Given the description of an element on the screen output the (x, y) to click on. 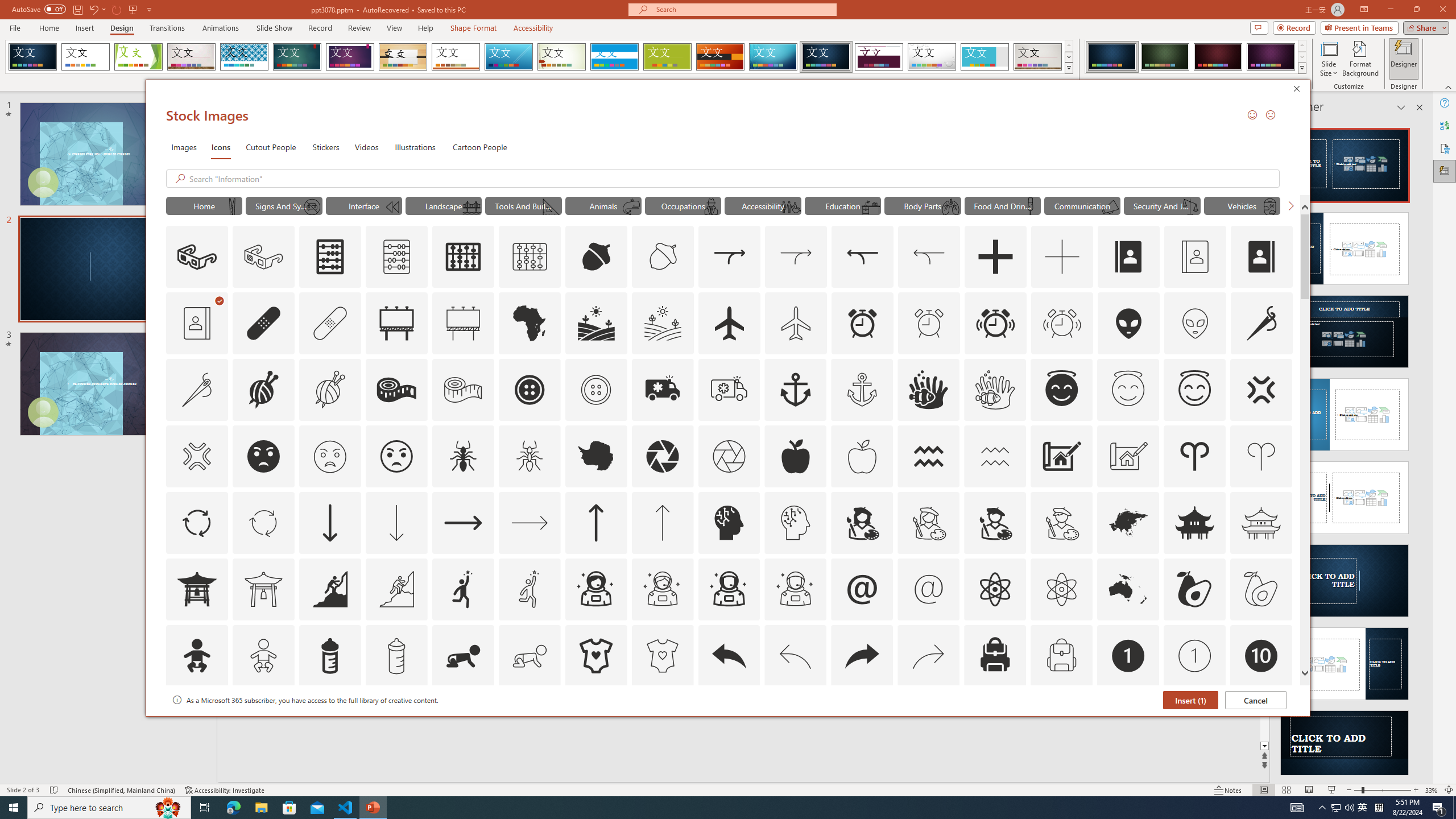
AutomationID: Icons_AsianTemple (1194, 522)
AutomationID: Icons_Aquarius (928, 455)
AutomationID: Icons_Aspiration_M (395, 588)
AutomationID: Icons_WeightsUneven1_M (1190, 206)
"Accessibility" Icons. (762, 205)
AutomationID: Icons_Badge7_M (995, 721)
AutomationID: Icons_ArtificialIntelligence_M (795, 522)
Zoom 33% (1431, 790)
"Home" Icons. (203, 205)
